Given the description of an element on the screen output the (x, y) to click on. 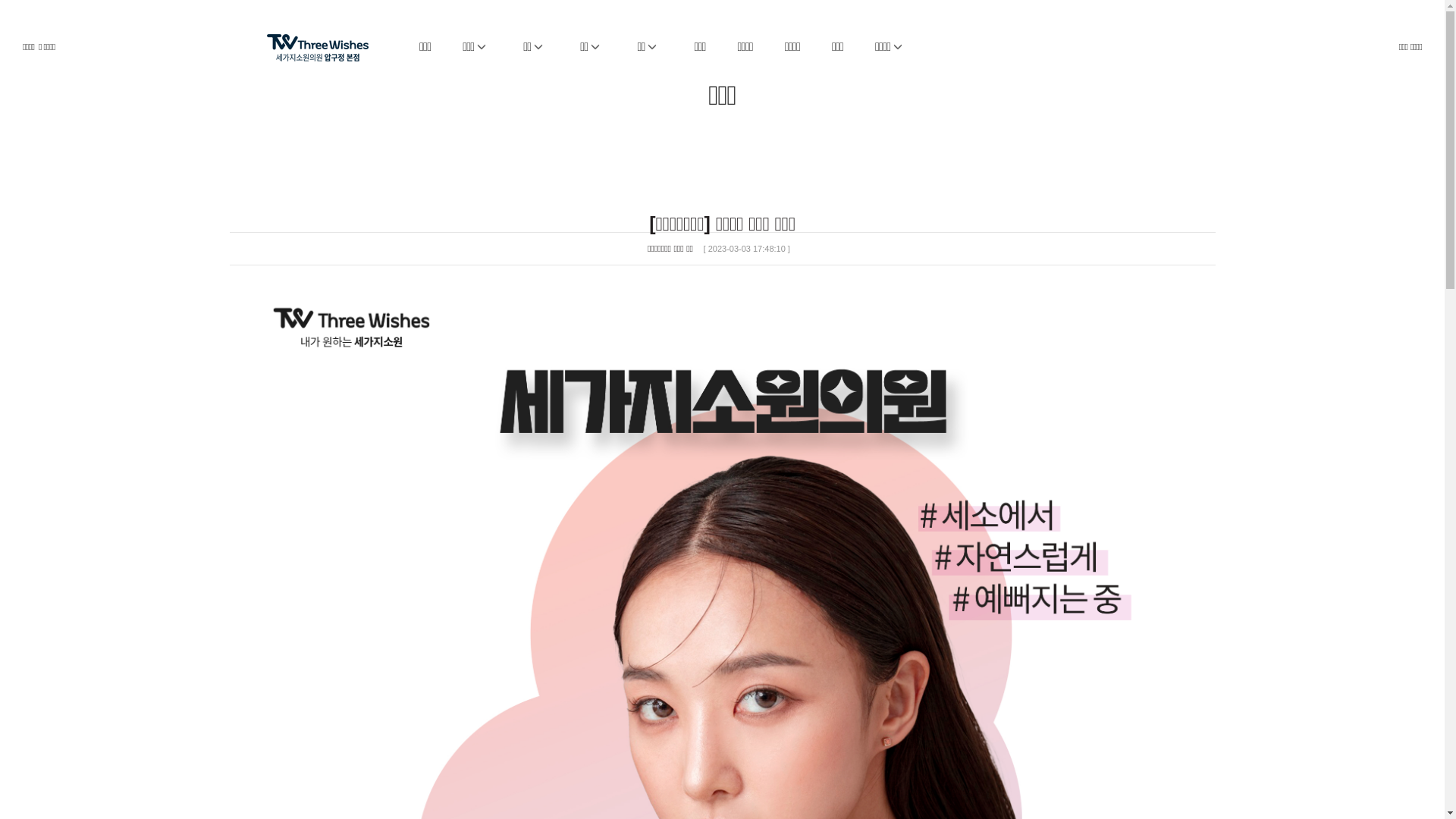
  Element type: text (331, 39)
